Given the description of an element on the screen output the (x, y) to click on. 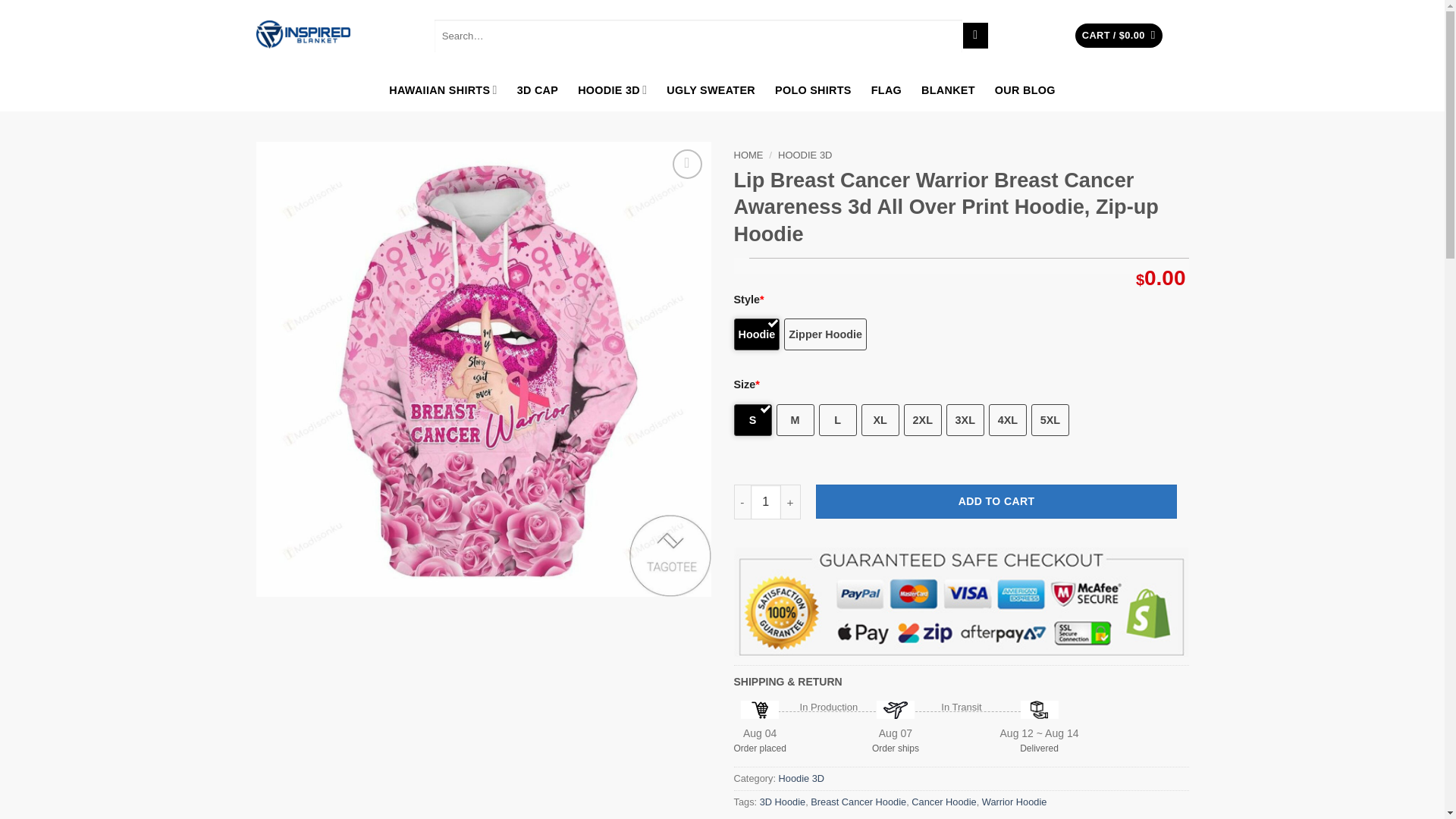
3XL (965, 419)
3D CAP (537, 89)
Search (975, 35)
2XL (923, 419)
HAWAIIAN SHIRTS (442, 89)
XL (880, 419)
Zipper Hoodie (825, 334)
Zoom (686, 164)
Hoodie (756, 334)
L (837, 419)
Cart (1118, 35)
M (794, 419)
HOODIE 3D (612, 89)
S (752, 419)
